Given the description of an element on the screen output the (x, y) to click on. 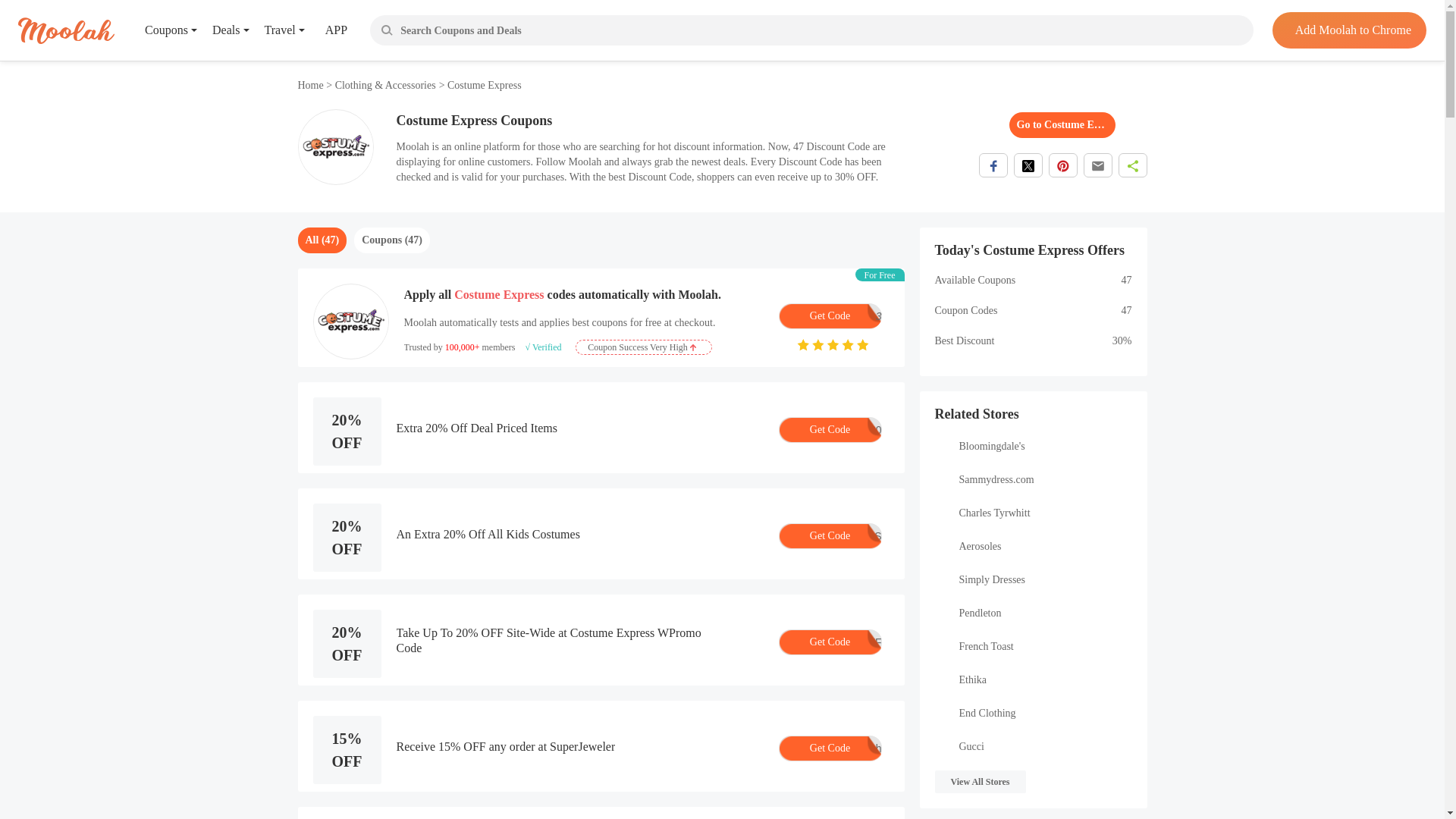
Go to Costume Express (1061, 125)
APP (324, 30)
Add Moolah to Chrome (1348, 30)
Home (828, 316)
